Given the description of an element on the screen output the (x, y) to click on. 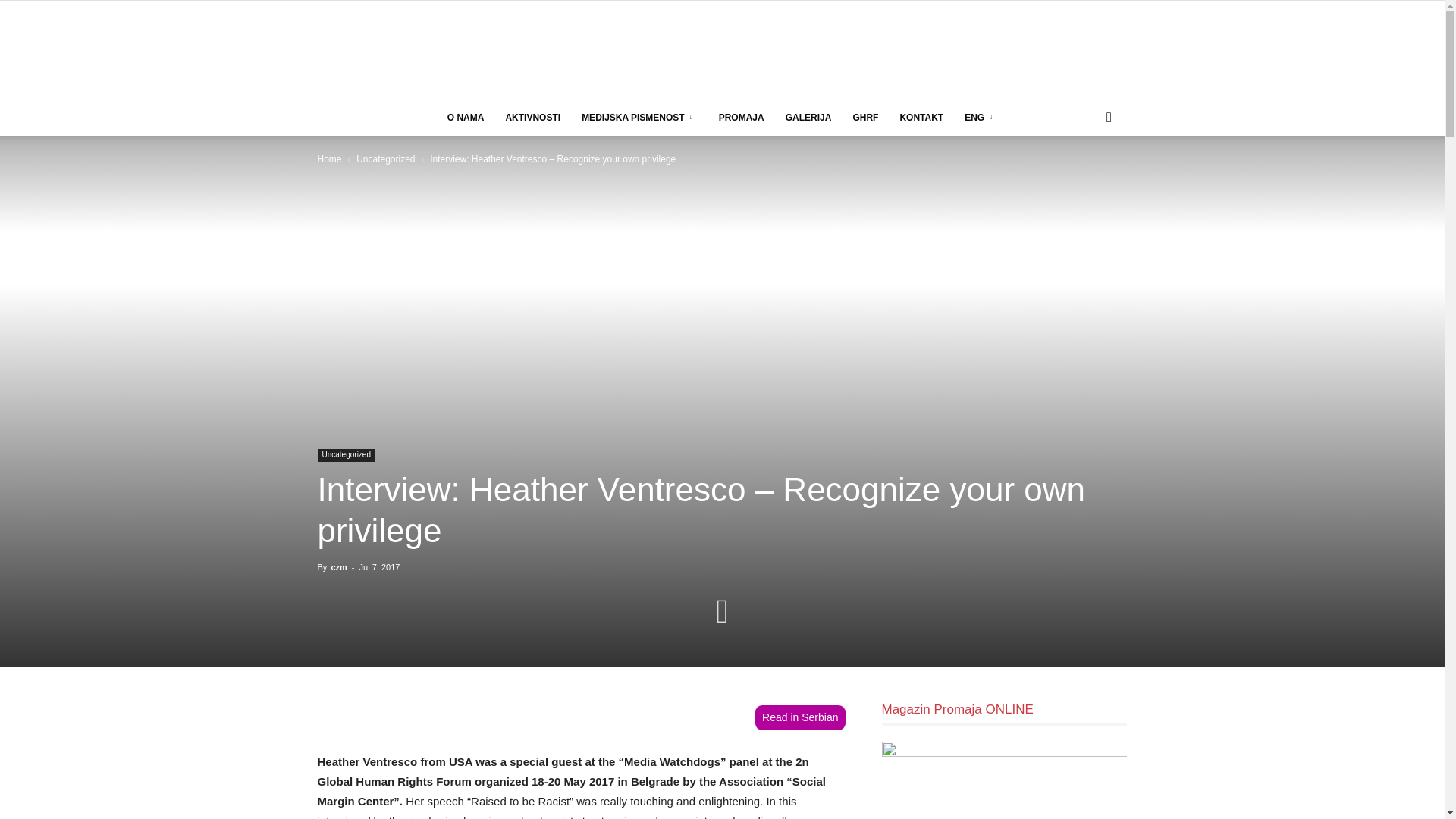
AKTIVNOSTI (532, 117)
GHRF (864, 117)
PROMAJA (740, 117)
O NAMA (465, 117)
View all posts in Uncategorized (385, 158)
ENG (980, 117)
KONTAKT (920, 117)
GALERIJA (808, 117)
MEDIJSKA PISMENOST (638, 117)
